Given the description of an element on the screen output the (x, y) to click on. 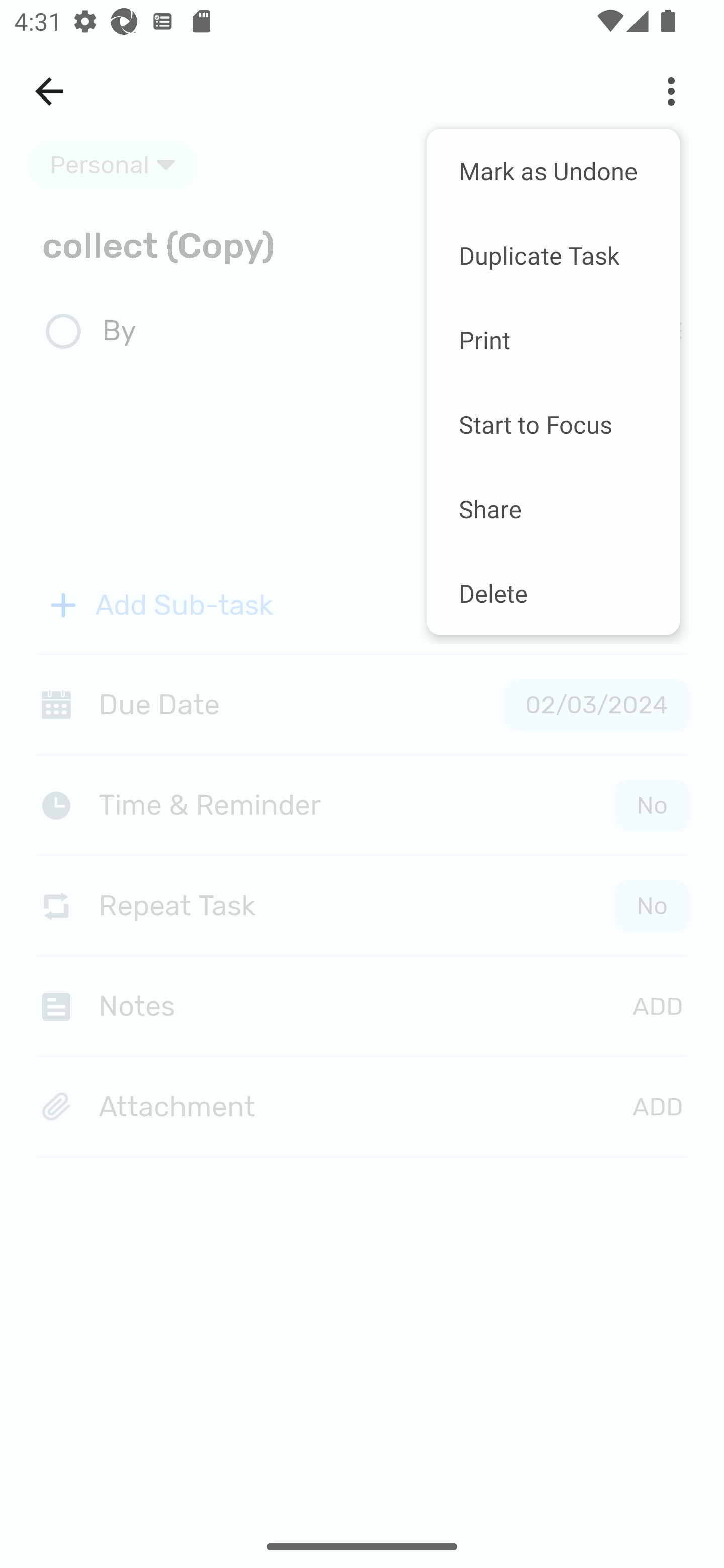
Mark as Undone (553, 170)
Duplicate Task (553, 255)
Print (553, 339)
Start to Focus (553, 423)
Share (553, 507)
Delete (553, 592)
